Given the description of an element on the screen output the (x, y) to click on. 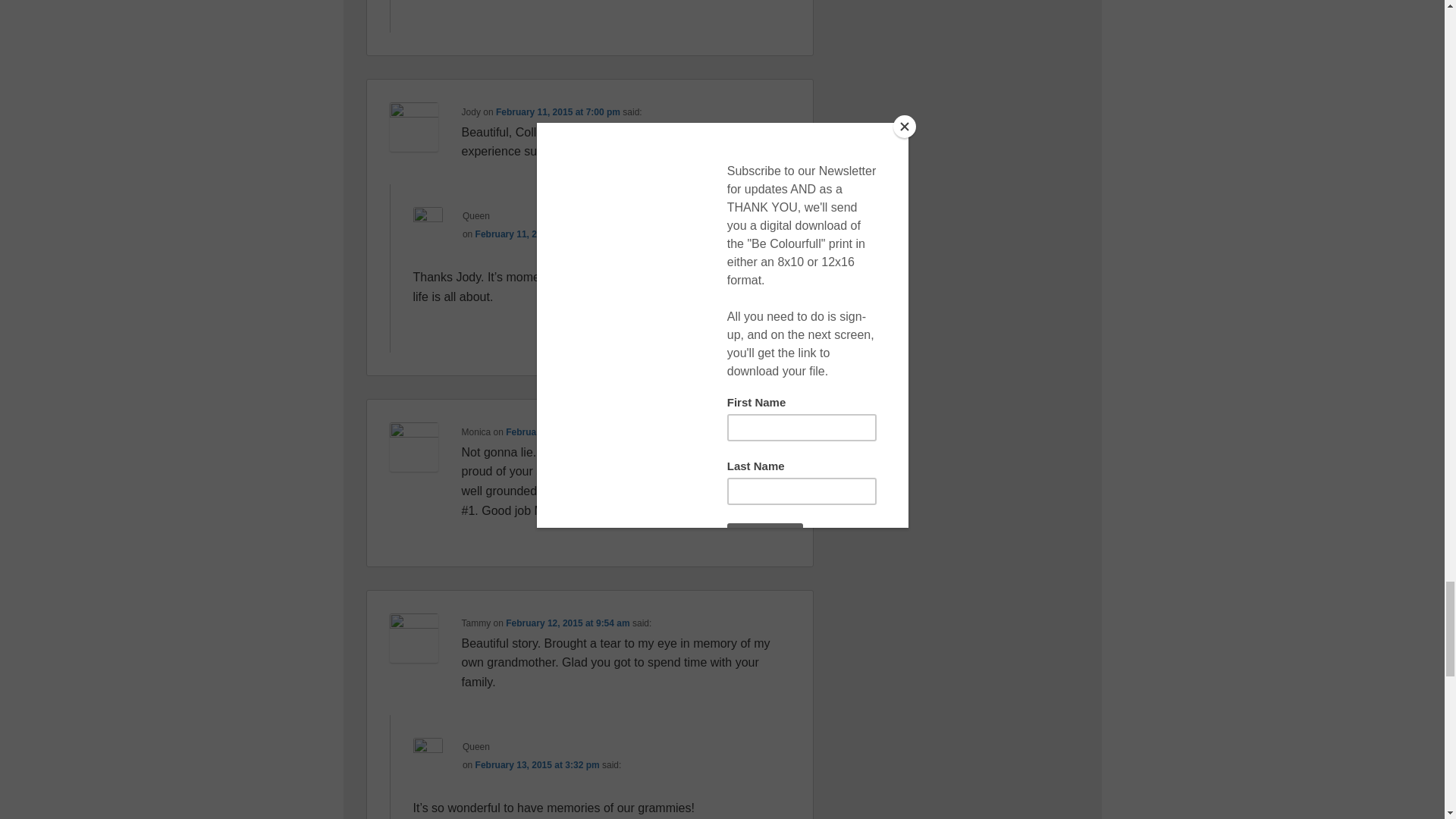
February 11, 2015 at 8:25 pm (537, 234)
February 12, 2015 at 9:54 am (566, 623)
February 11, 2015 at 7:00 pm (558, 112)
February 13, 2015 at 3:32 pm (537, 765)
February 11, 2015 at 9:48 pm (567, 431)
